Given the description of an element on the screen output the (x, y) to click on. 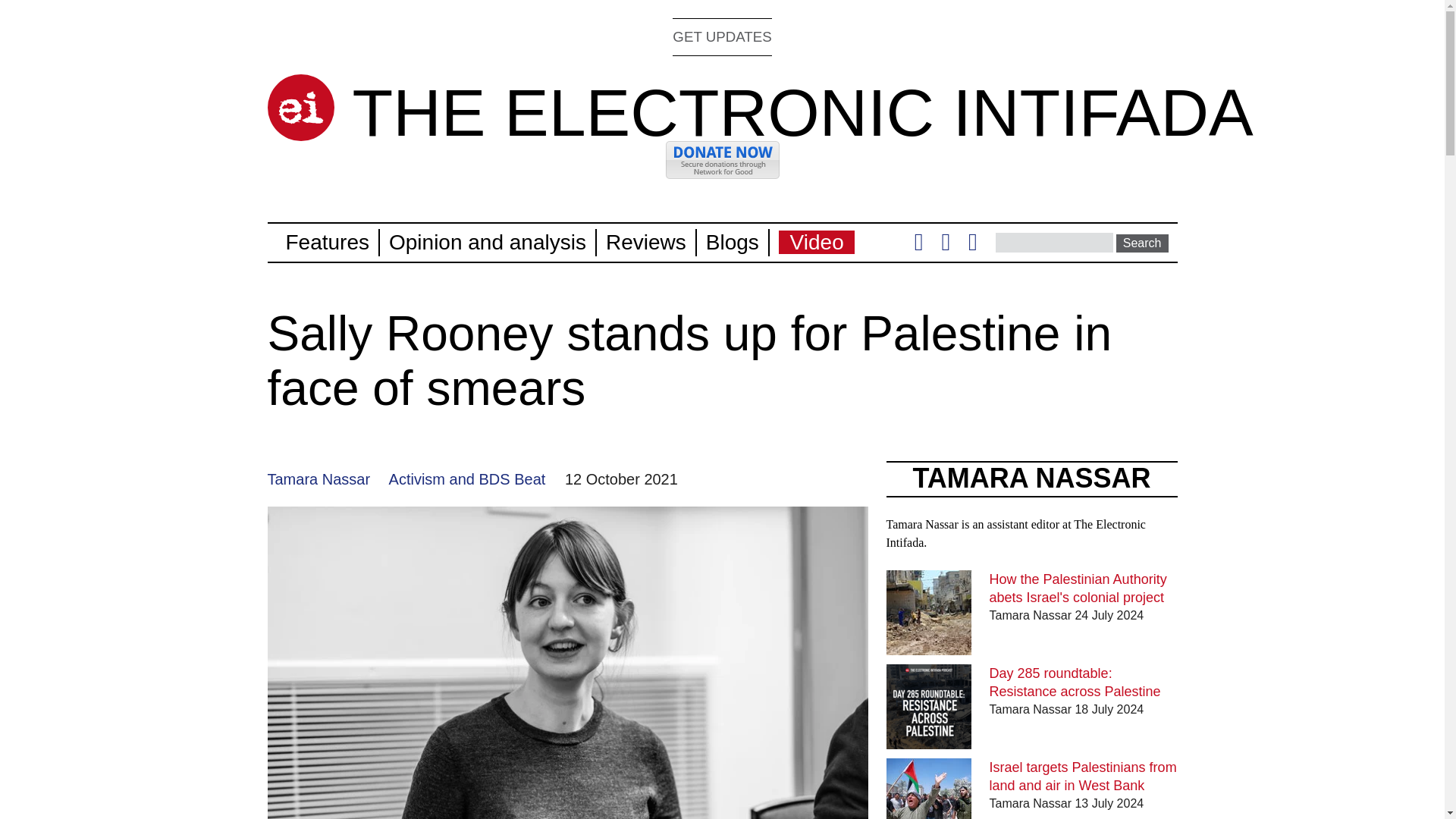
Activism and BDS Beat (467, 478)
Tamara Nassar (317, 478)
Search (1142, 243)
GET UPDATES (721, 37)
Enter the terms you wish to search for. (1054, 242)
Home (802, 112)
Home (299, 107)
THE ELECTRONIC INTIFADA (802, 112)
